Given the description of an element on the screen output the (x, y) to click on. 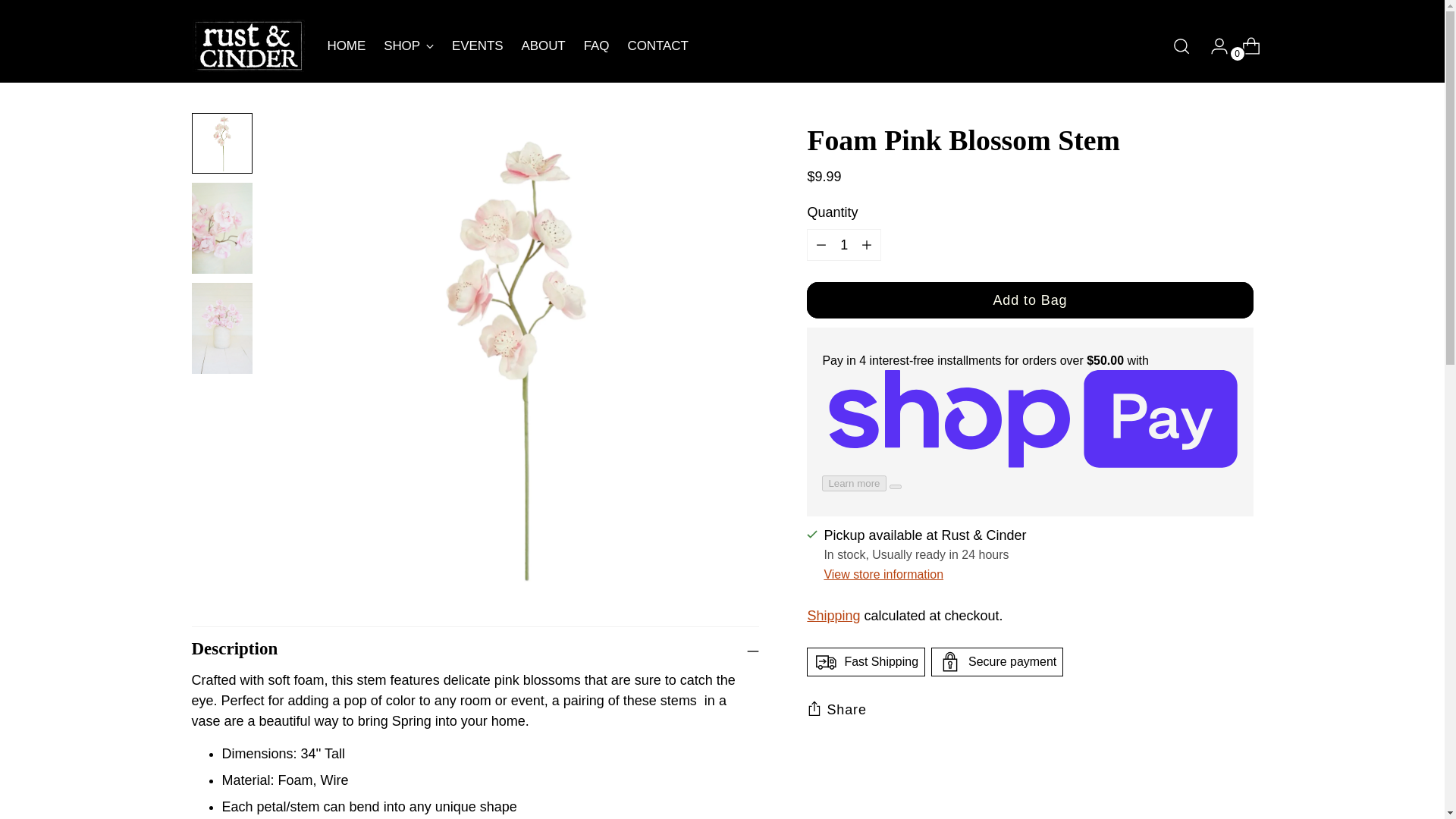
SHOP (408, 45)
SHOP (402, 46)
1 (843, 245)
HOME (507, 45)
